Given the description of an element on the screen output the (x, y) to click on. 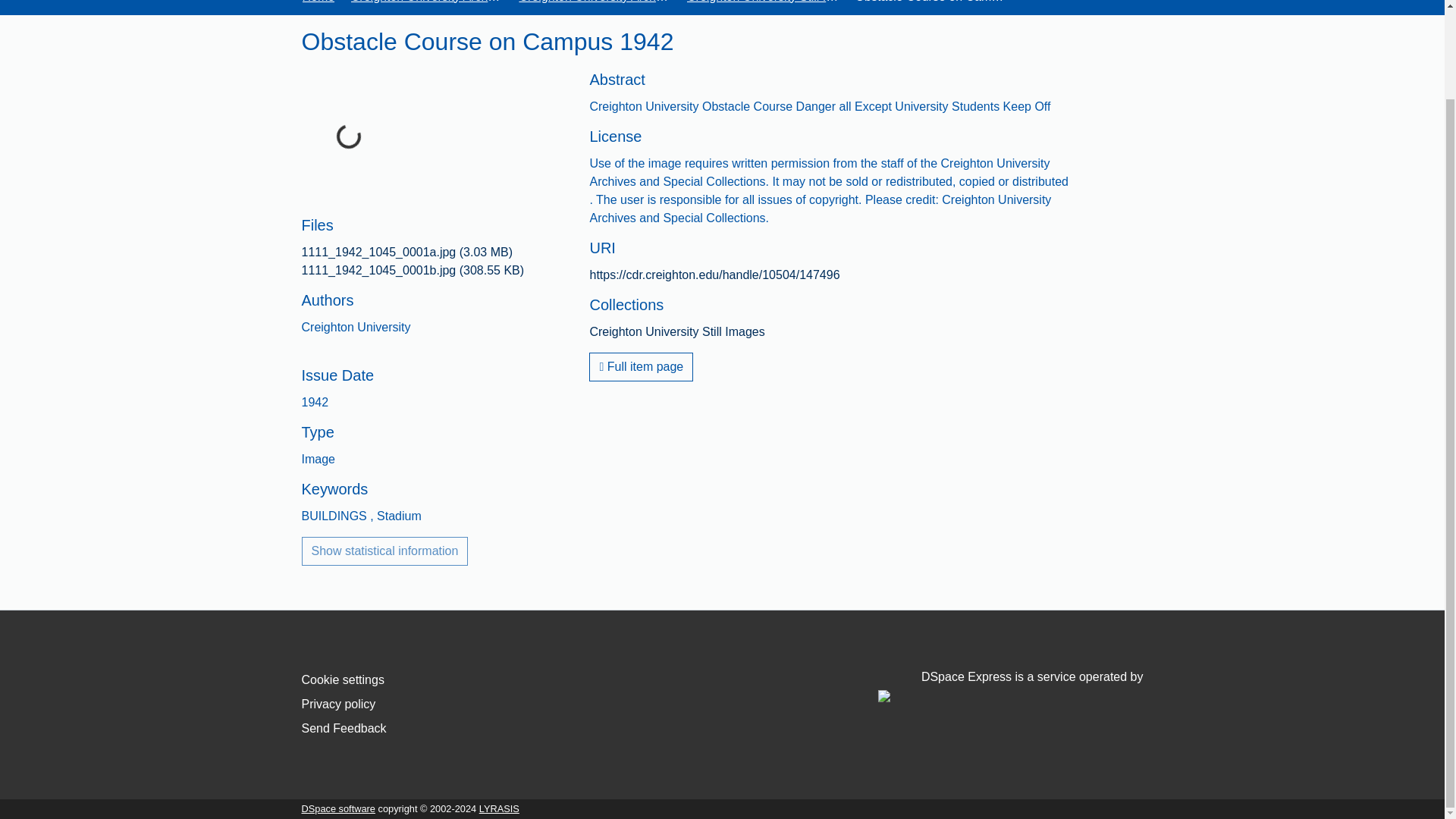
Home (317, 2)
DSpace software (338, 808)
Privacy policy (338, 703)
Creighton University Still Images (676, 331)
Show statistical information (384, 551)
DSpace Express is a service operated by (1009, 685)
Creighton University Archives and Special Collections (426, 2)
Send Feedback (344, 727)
Cookie settings (342, 679)
Full item page (641, 366)
Creighton University Archives (593, 2)
LYRASIS (499, 808)
Creighton University Still Images (762, 2)
